Given the description of an element on the screen output the (x, y) to click on. 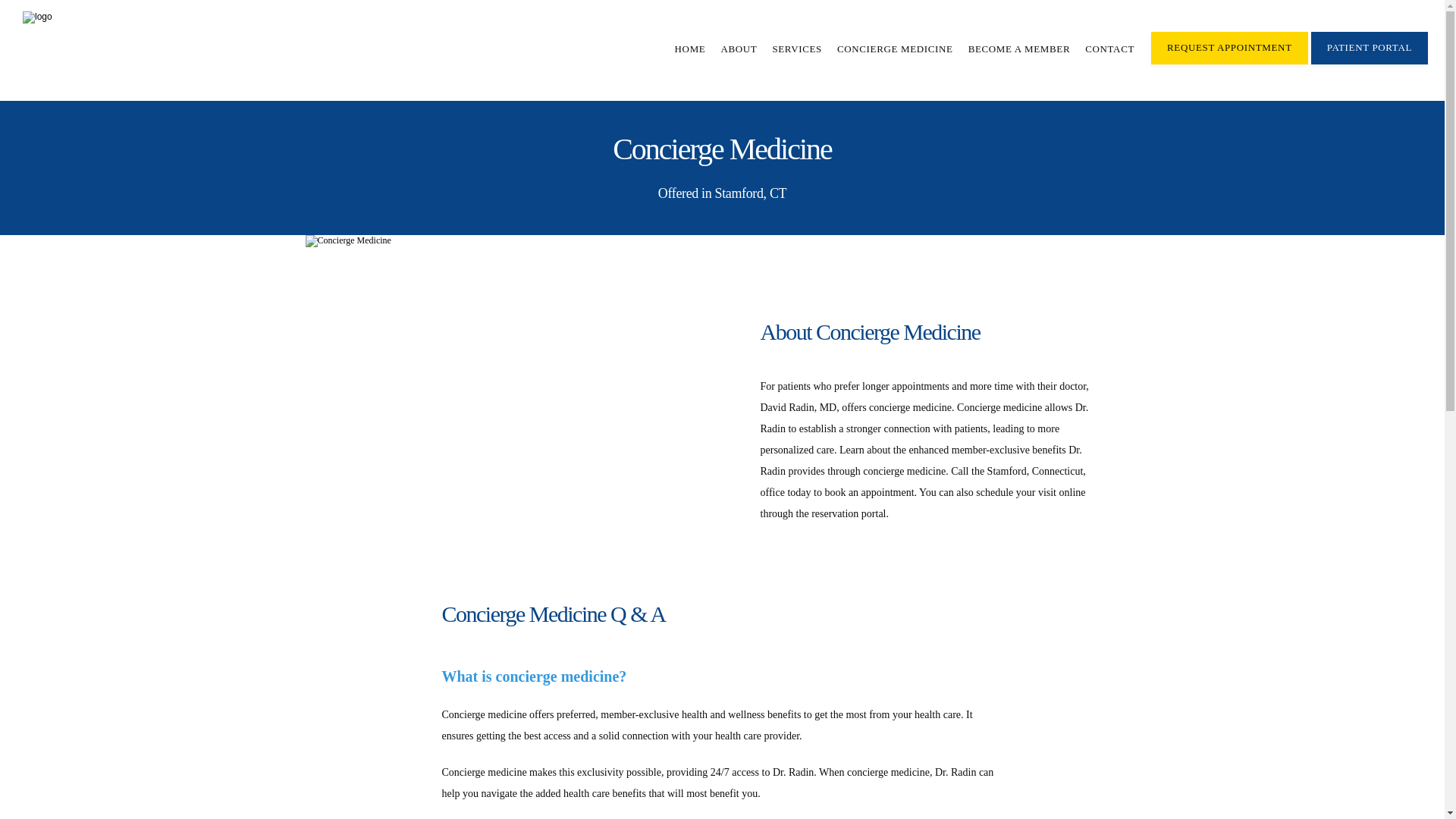
PATIENT PORTAL (1368, 62)
REQUEST APPOINTMENT (1229, 62)
CONTACT (1109, 48)
ABOUT (738, 48)
HOME (690, 48)
BECOME A MEMBER (1019, 48)
CONCIERGE MEDICINE (895, 48)
SERVICES (796, 48)
